Given the description of an element on the screen output the (x, y) to click on. 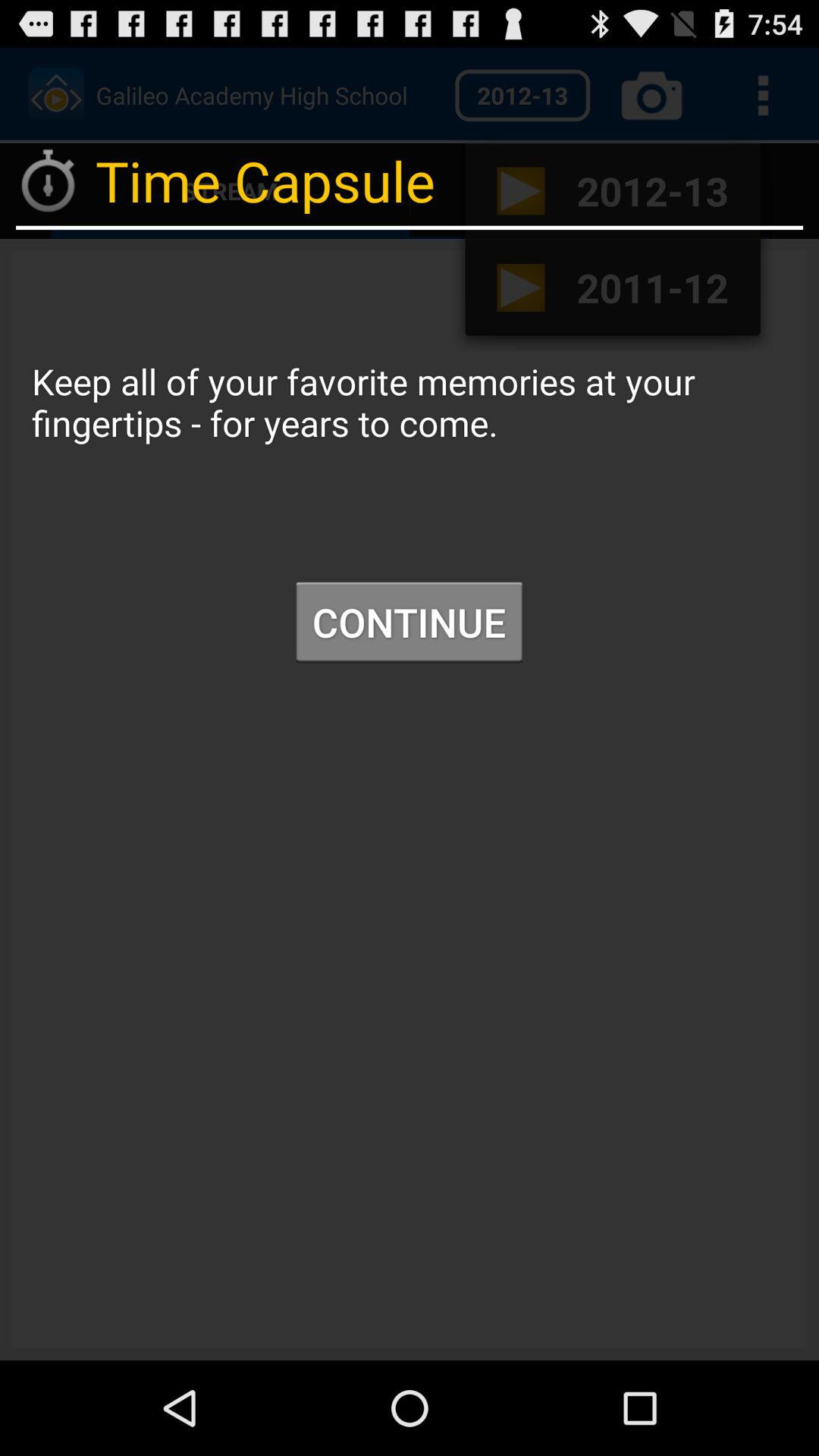
press item below keep all of icon (409, 621)
